Given the description of an element on the screen output the (x, y) to click on. 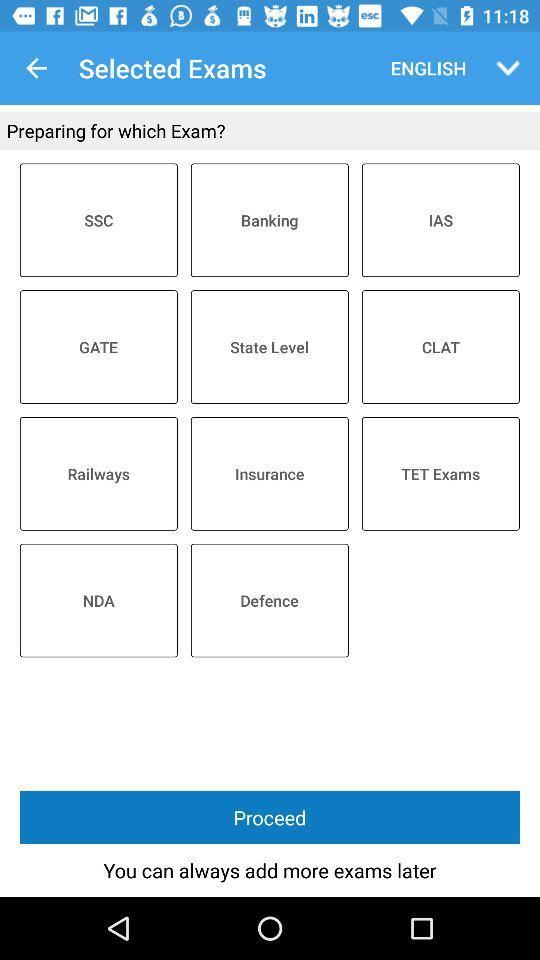
click item next to selected exams (423, 67)
